Given the description of an element on the screen output the (x, y) to click on. 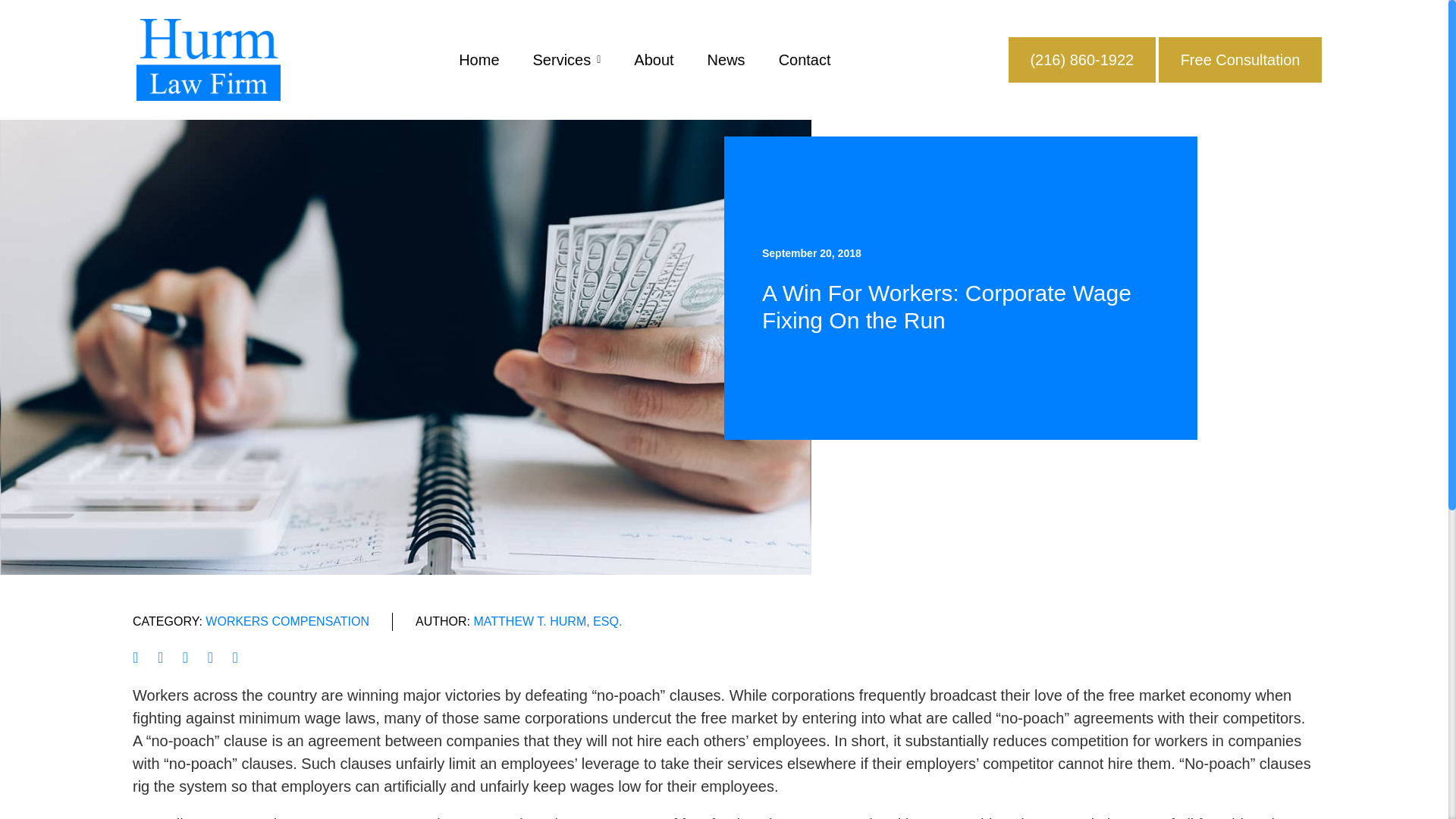
CATEGORY: WORKERS COMPENSATION (250, 621)
Free Consultation (1240, 59)
Services (566, 59)
